Given the description of an element on the screen output the (x, y) to click on. 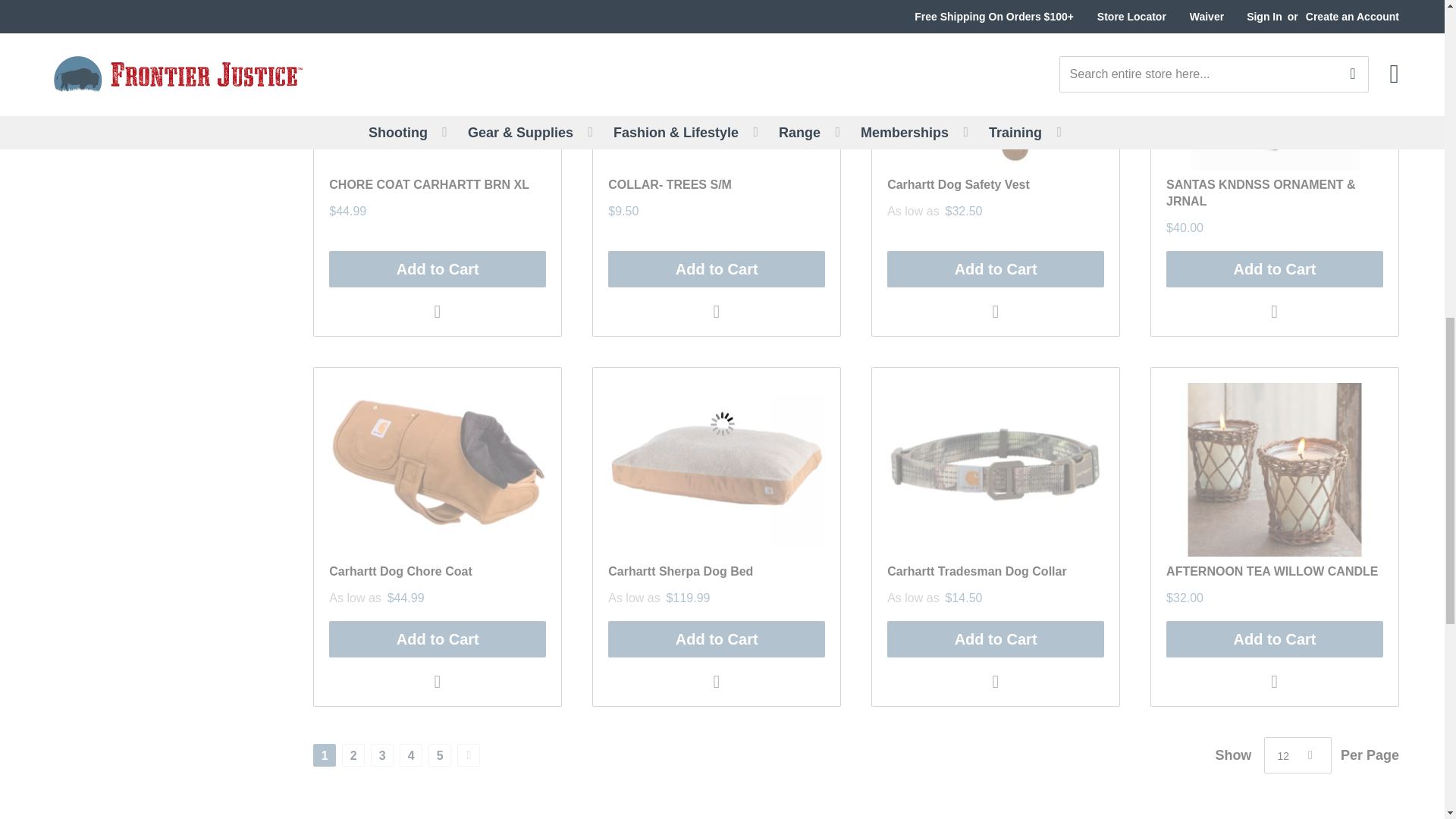
Add to Wishlist (716, 311)
Add to Cart (437, 268)
Add to Cart (716, 268)
Add to Wishlist (438, 311)
